Given the description of an element on the screen output the (x, y) to click on. 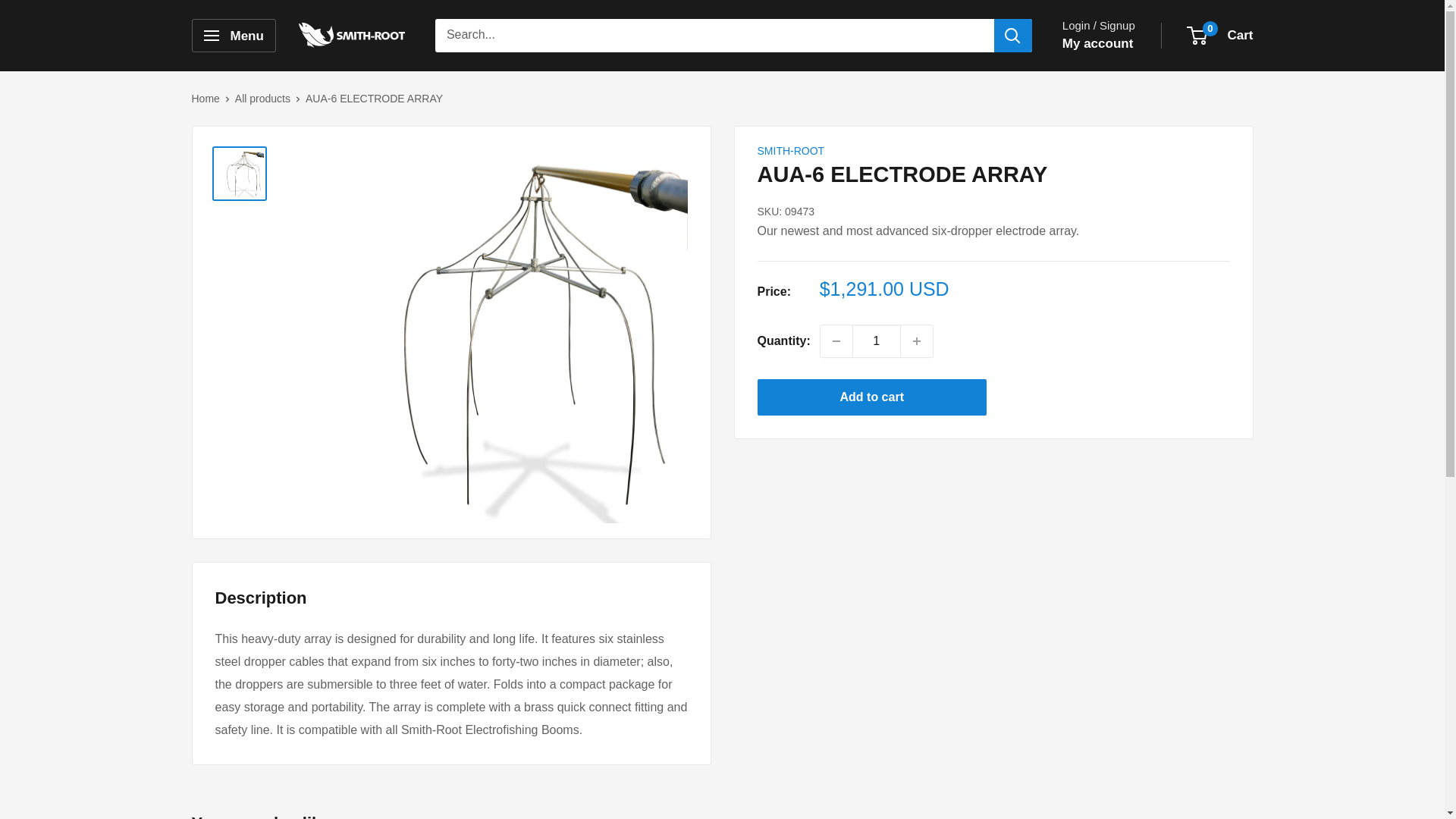
Decrease quantity by 1 (836, 341)
Increase quantity by 1 (917, 341)
1 (876, 341)
